Given the description of an element on the screen output the (x, y) to click on. 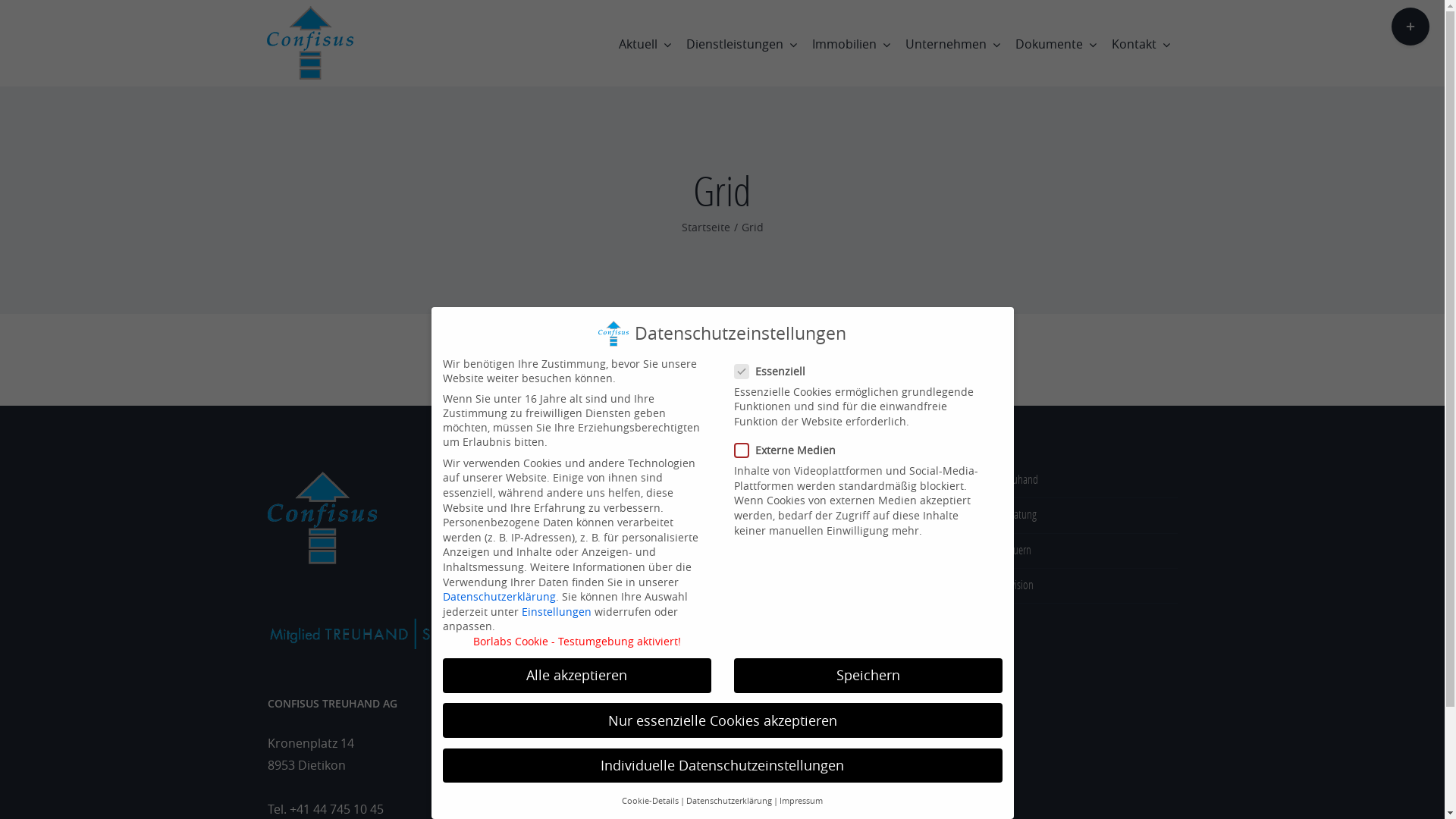
Dienstleistungen Element type: text (741, 43)
Steuern Element type: text (1071, 550)
Alle akzeptieren Element type: text (576, 675)
Kontakt Element type: text (1140, 43)
Unternehmen Element type: text (952, 43)
Individuelle Datenschutzeinstellungen Element type: text (722, 765)
Speichern Element type: text (868, 675)
Beratung Element type: text (1071, 515)
Startseite Element type: text (704, 226)
Nur essenzielle Cookies akzeptieren Element type: text (722, 719)
Dokumente Element type: text (1055, 43)
Impressum Element type: text (800, 800)
Cookie-Details Element type: text (649, 800)
Toggle Sliding Bar Area Element type: text (1410, 26)
Immobilien Element type: text (850, 43)
Treuhand Element type: text (1071, 480)
Revision Element type: text (1071, 585)
Einstellungen Element type: text (556, 611)
Aktuell Element type: text (644, 43)
